Given the description of an element on the screen output the (x, y) to click on. 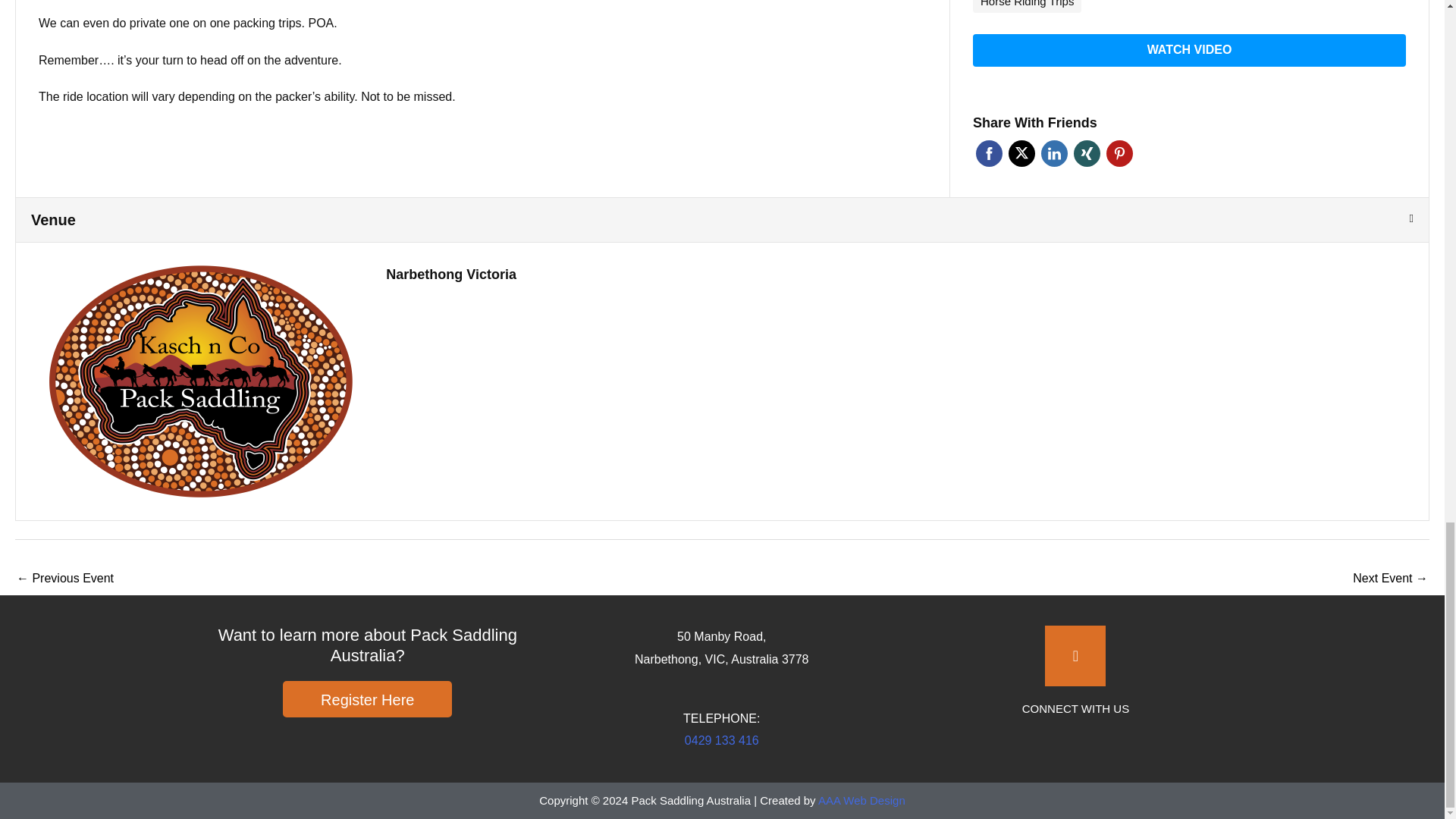
Pinterest (1119, 153)
Xing (1087, 153)
Twitter (1022, 153)
Share this page on Facebook (989, 153)
Linkedin (1054, 153)
Share this page on Xing (1087, 153)
The Great Victorian Rail Trail   closed (64, 579)
Facebook (989, 153)
Horse Riding Trips (1027, 7)
Register Here (366, 698)
